Given the description of an element on the screen output the (x, y) to click on. 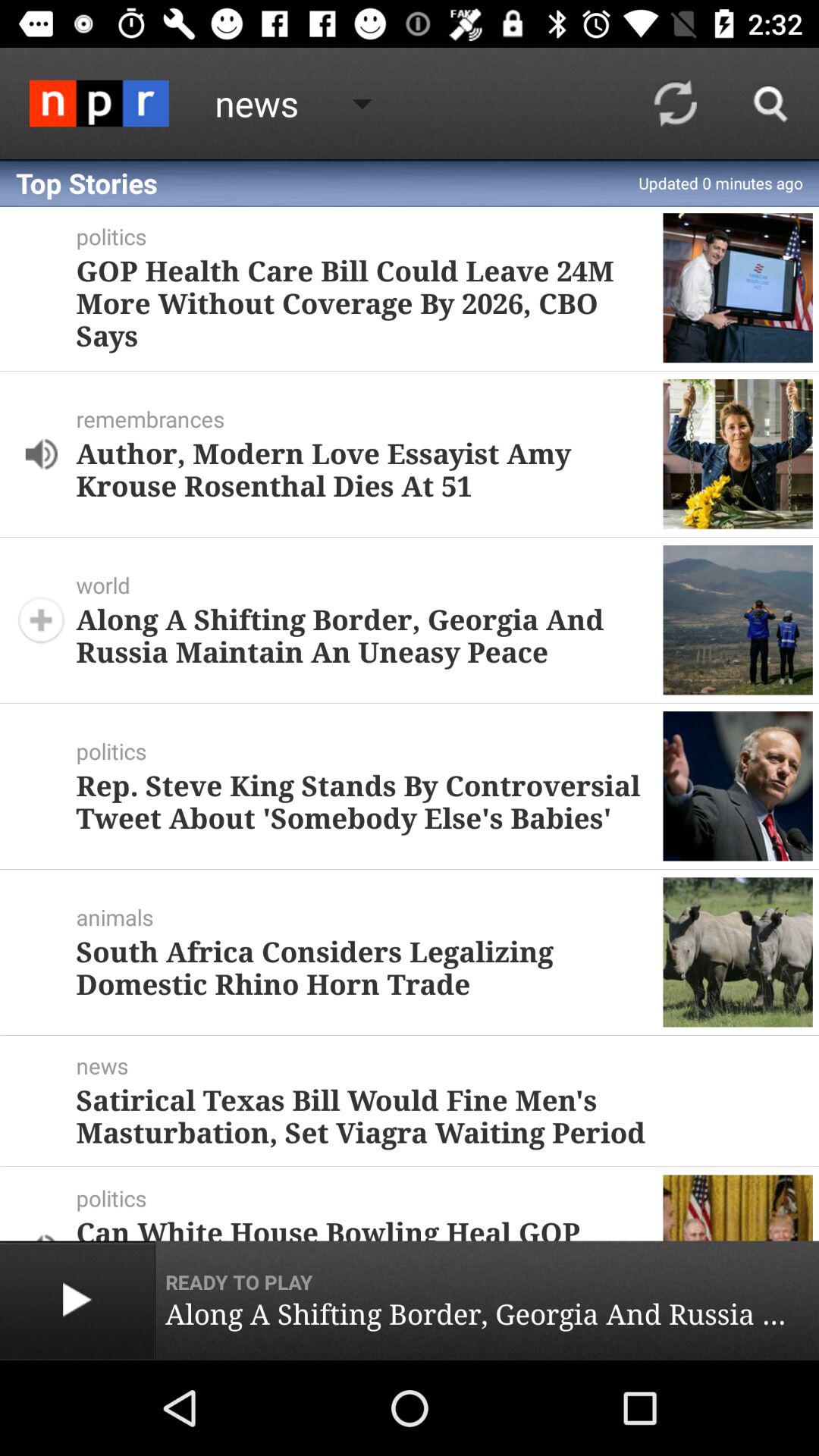
turn off the satirical texas bill item (438, 1115)
